Given the description of an element on the screen output the (x, y) to click on. 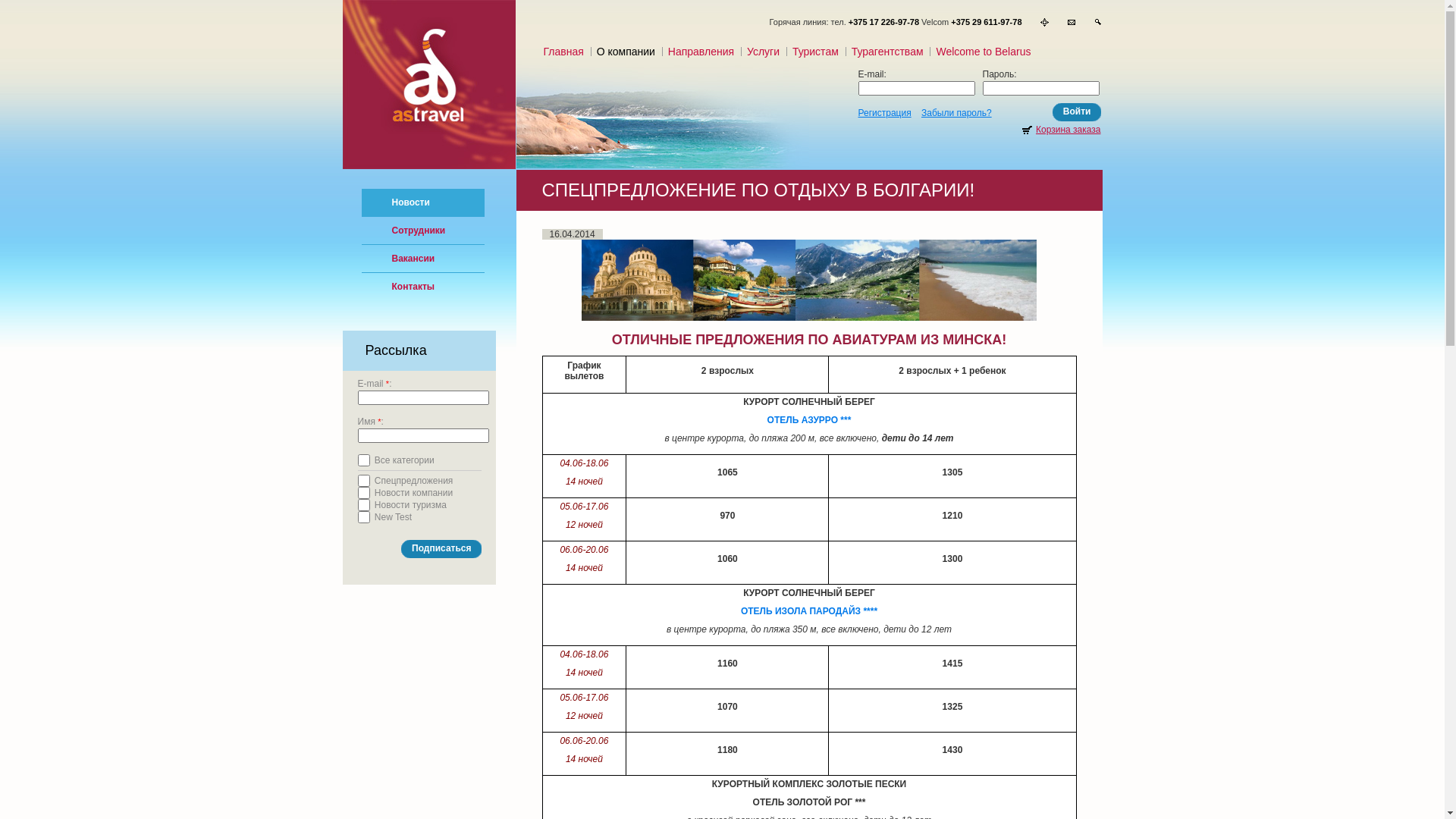
Welcome to Belarus Element type: text (982, 51)
astravel.by Element type: hover (436, 86)
